Given the description of an element on the screen output the (x, y) to click on. 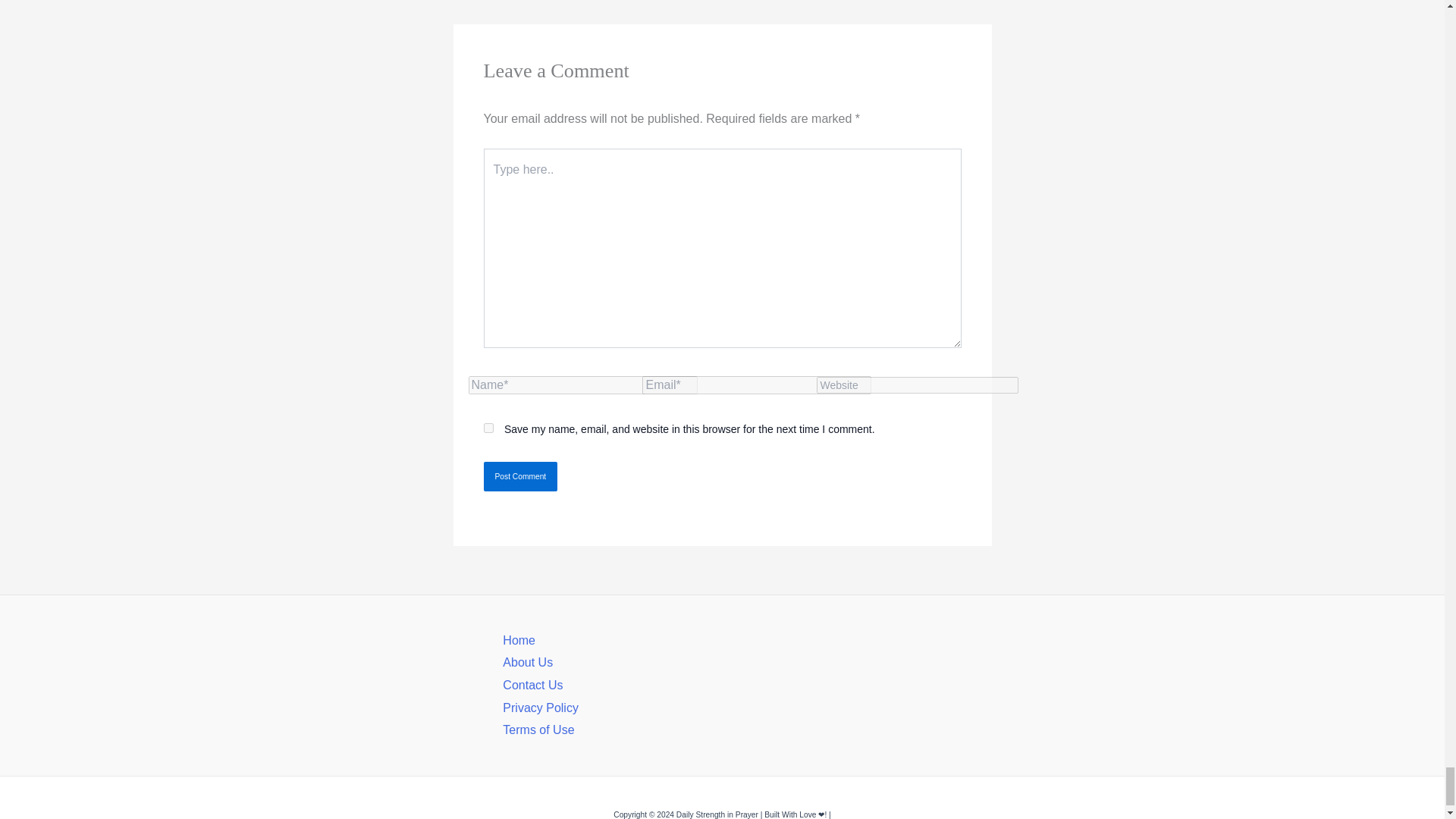
Contact Us (532, 684)
Terms of Use (537, 729)
About Us (527, 662)
Post Comment (520, 476)
Home (518, 640)
Post Comment (520, 476)
yes (488, 428)
Privacy Policy (540, 707)
